Given the description of an element on the screen output the (x, y) to click on. 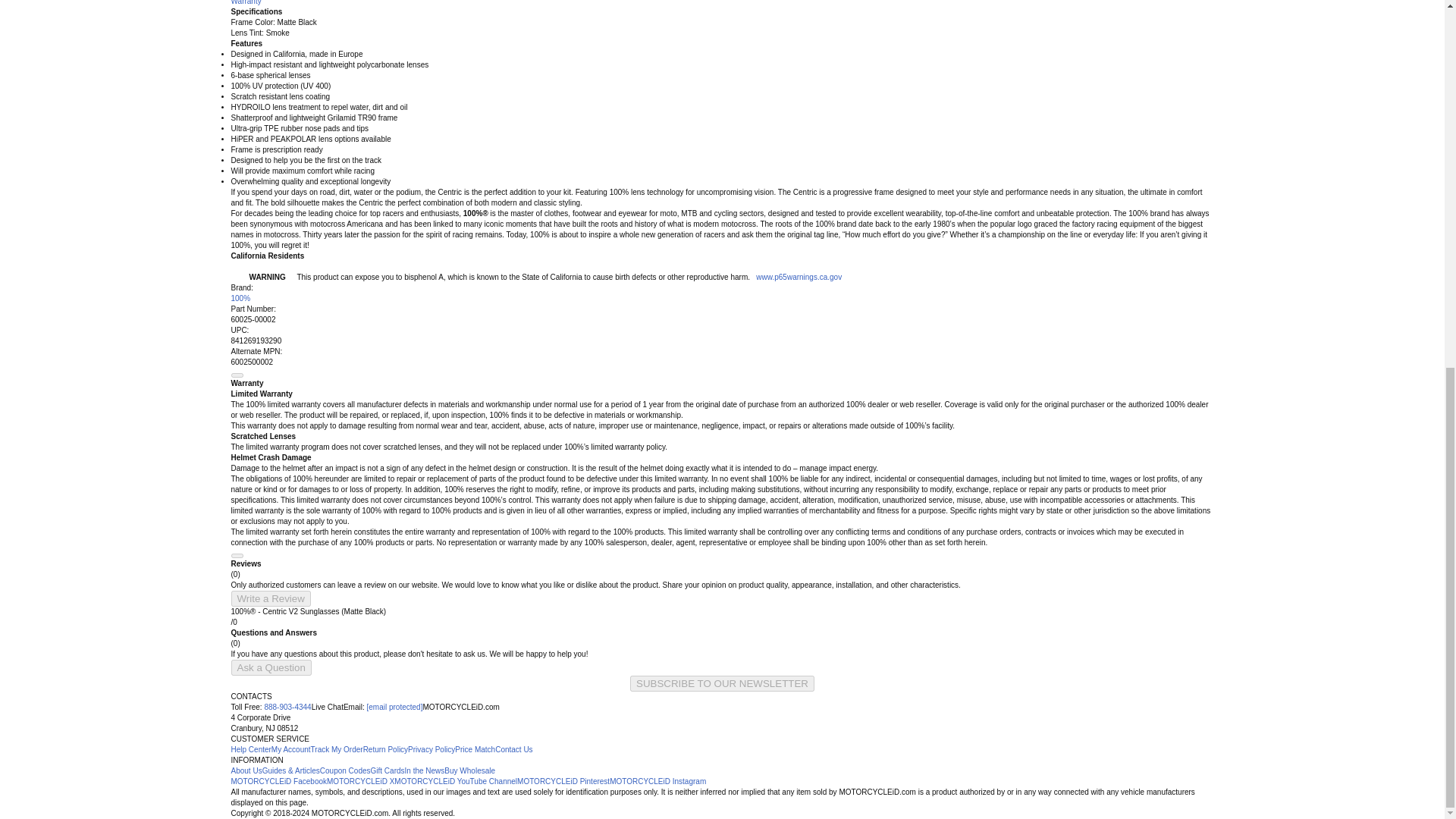
Warranty (245, 2)
